Given the description of an element on the screen output the (x, y) to click on. 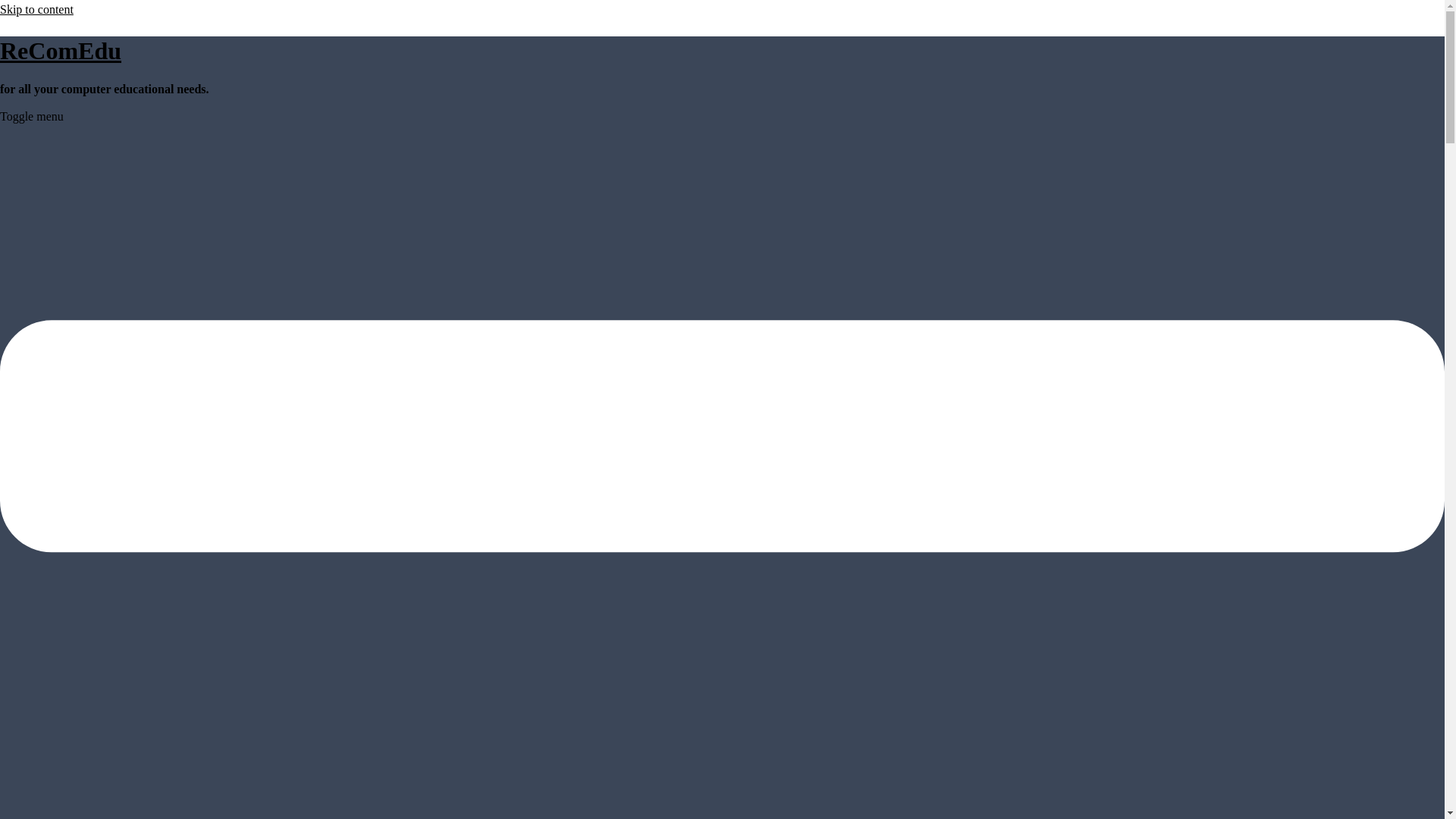
ReComEdu (60, 50)
Skip to content (37, 9)
